Given the description of an element on the screen output the (x, y) to click on. 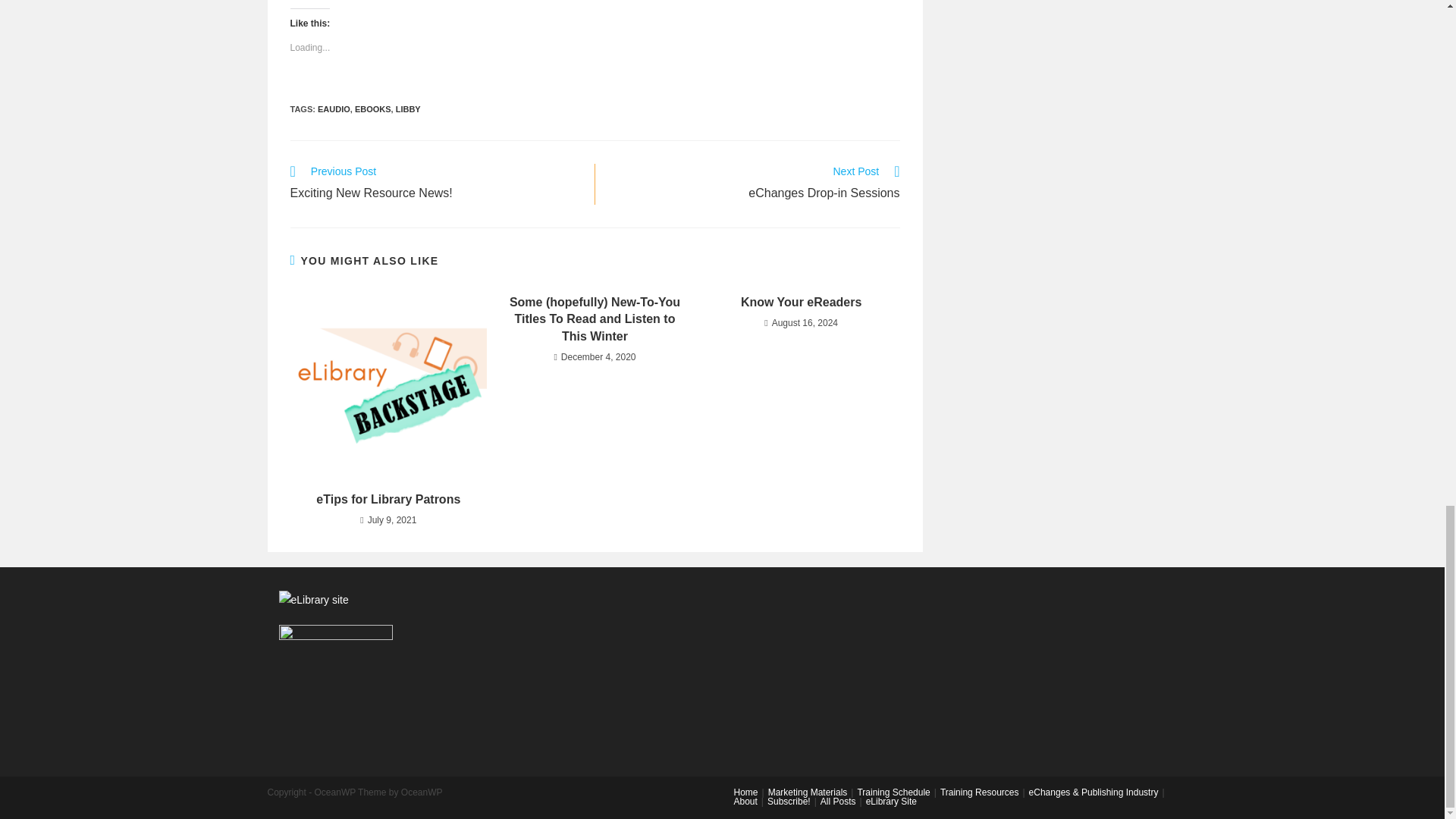
EBOOKS (433, 183)
LIBBY (373, 108)
EAUDIO (408, 108)
